Given the description of an element on the screen output the (x, y) to click on. 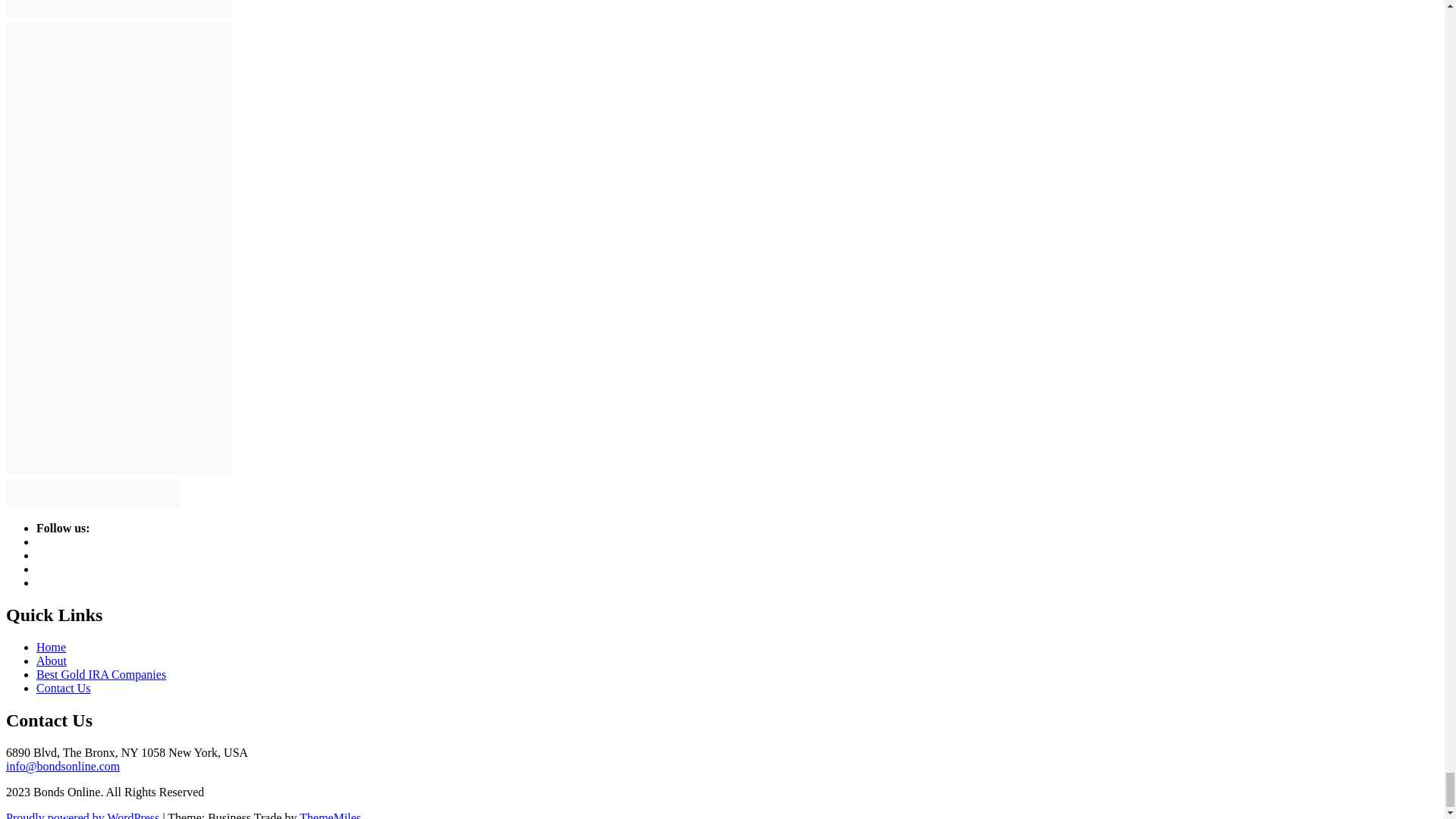
About (51, 660)
Contact Us (63, 687)
Home (50, 646)
Best Gold IRA Companies (100, 674)
